Given the description of an element on the screen output the (x, y) to click on. 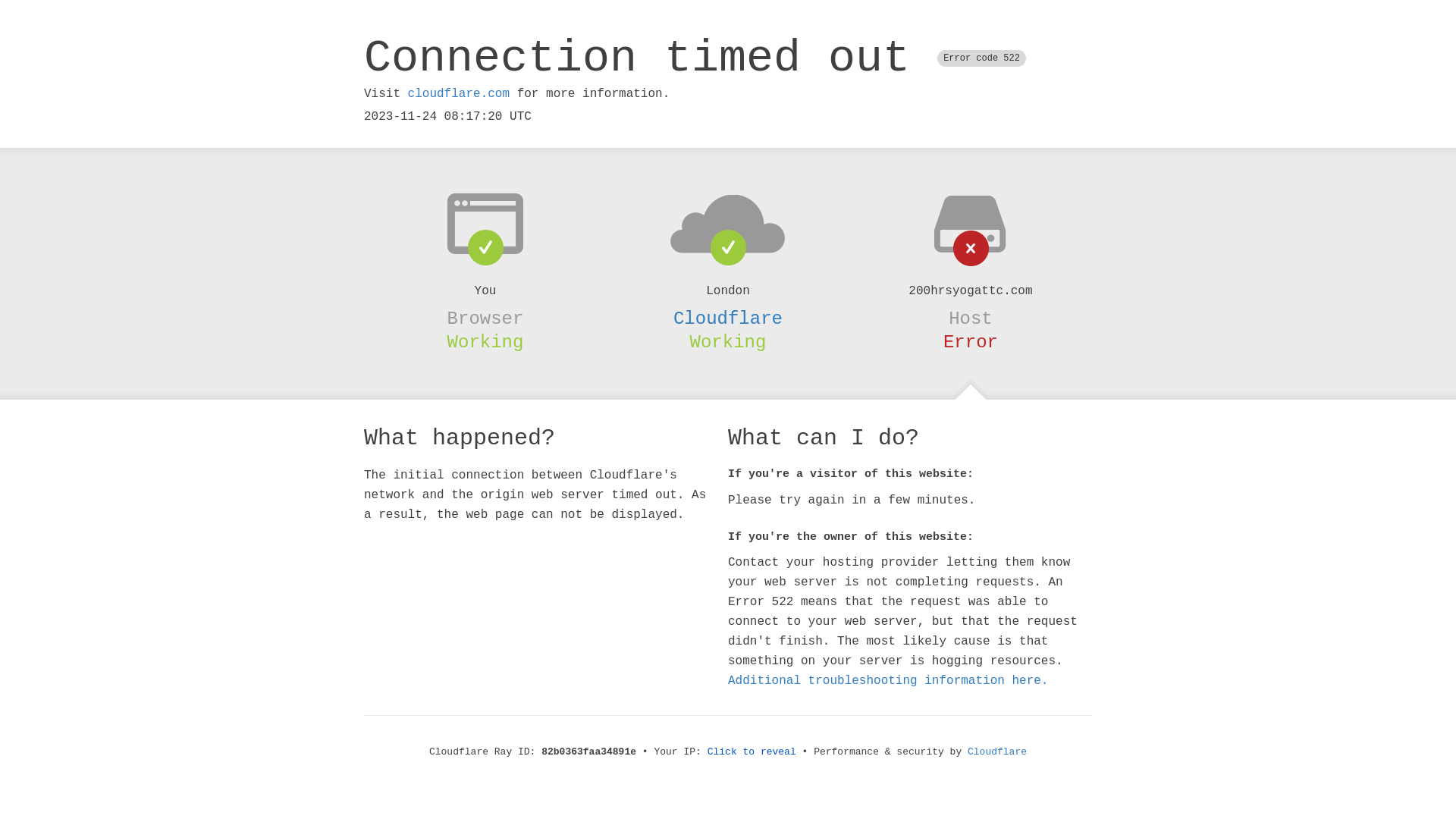
Cloudflare Element type: text (727, 318)
Cloudflare Element type: text (996, 751)
cloudflare.com Element type: text (458, 93)
Click to reveal Element type: text (751, 751)
Additional troubleshooting information here. Element type: text (888, 680)
